Given the description of an element on the screen output the (x, y) to click on. 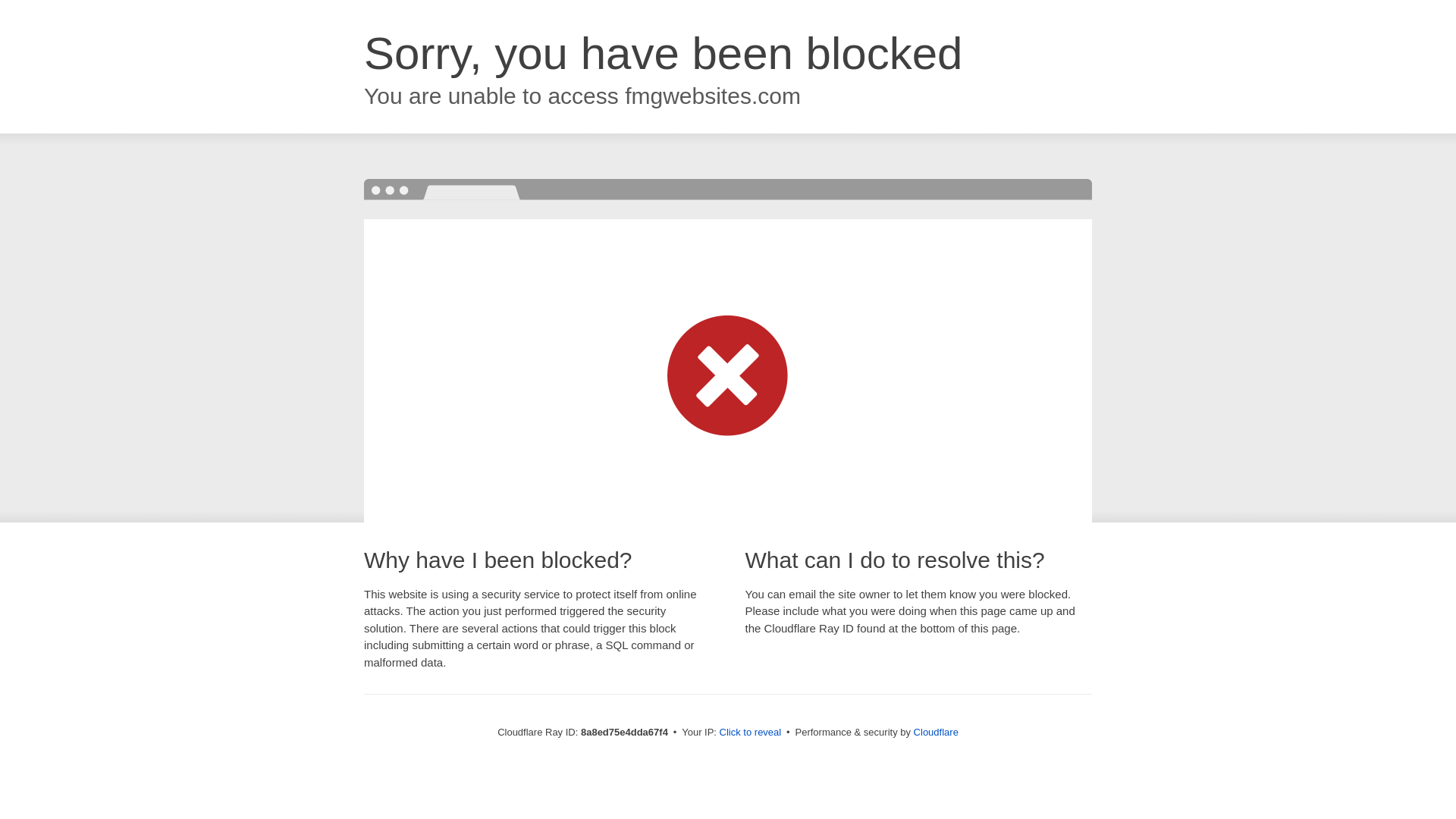
Cloudflare (936, 731)
Click to reveal (750, 732)
